Given the description of an element on the screen output the (x, y) to click on. 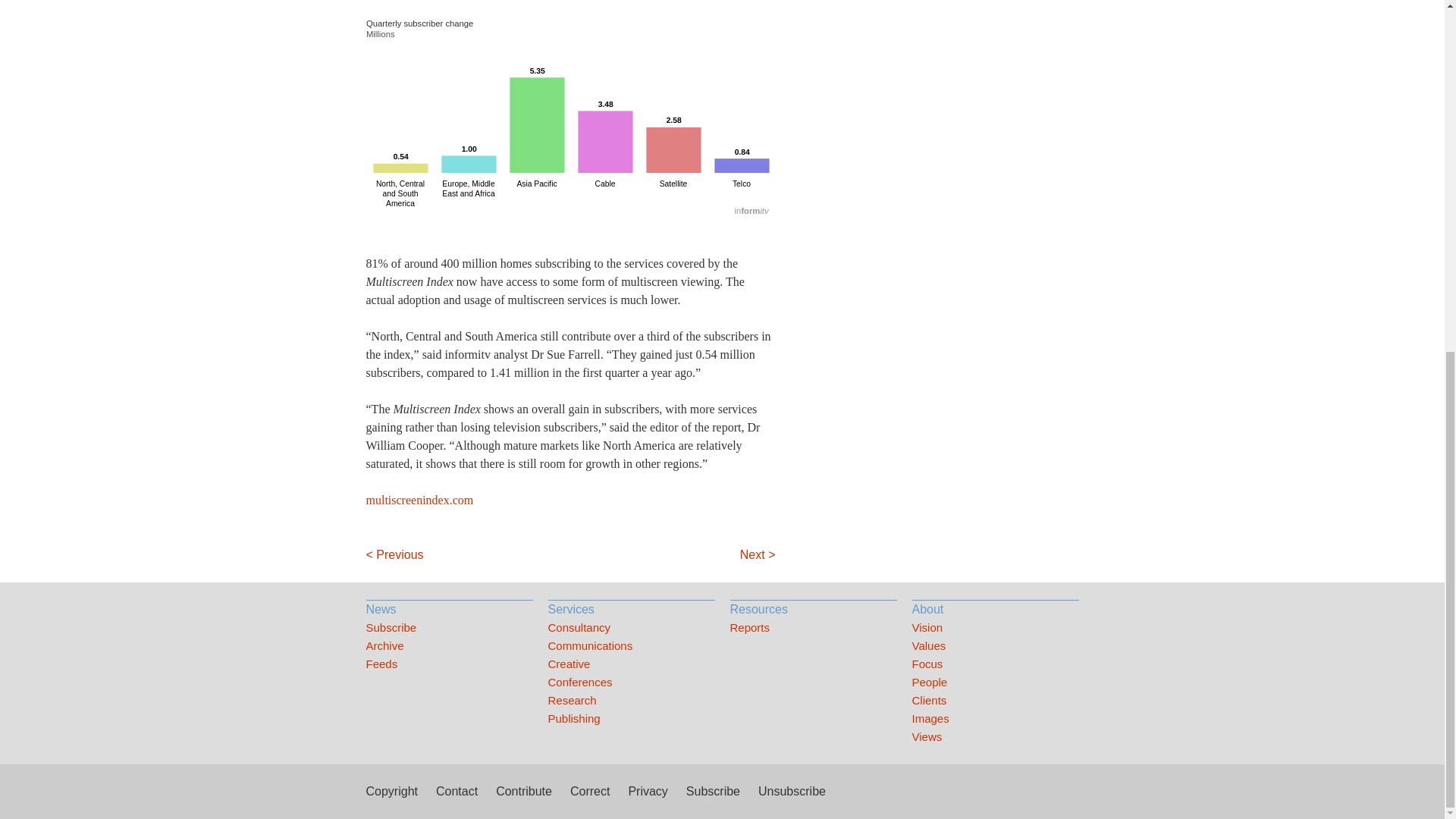
multiscreenindex.com (419, 499)
Subscribe (448, 628)
Consultancy (630, 628)
Archive (448, 646)
Multiscreen Index web site (419, 499)
Feeds (448, 664)
